Given the description of an element on the screen output the (x, y) to click on. 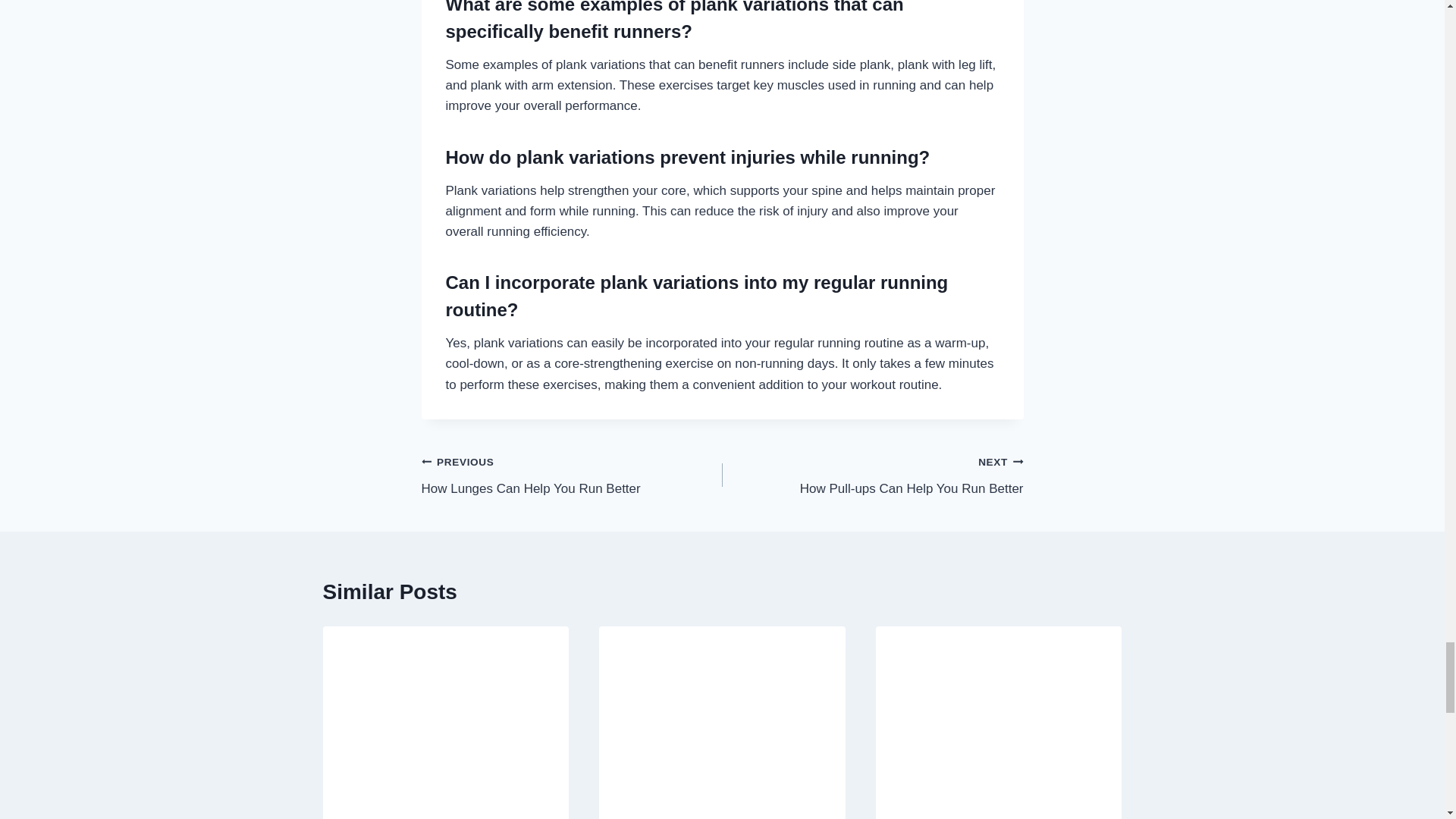
How Bird dogs Can Help You Run Better (572, 474)
